Given the description of an element on the screen output the (x, y) to click on. 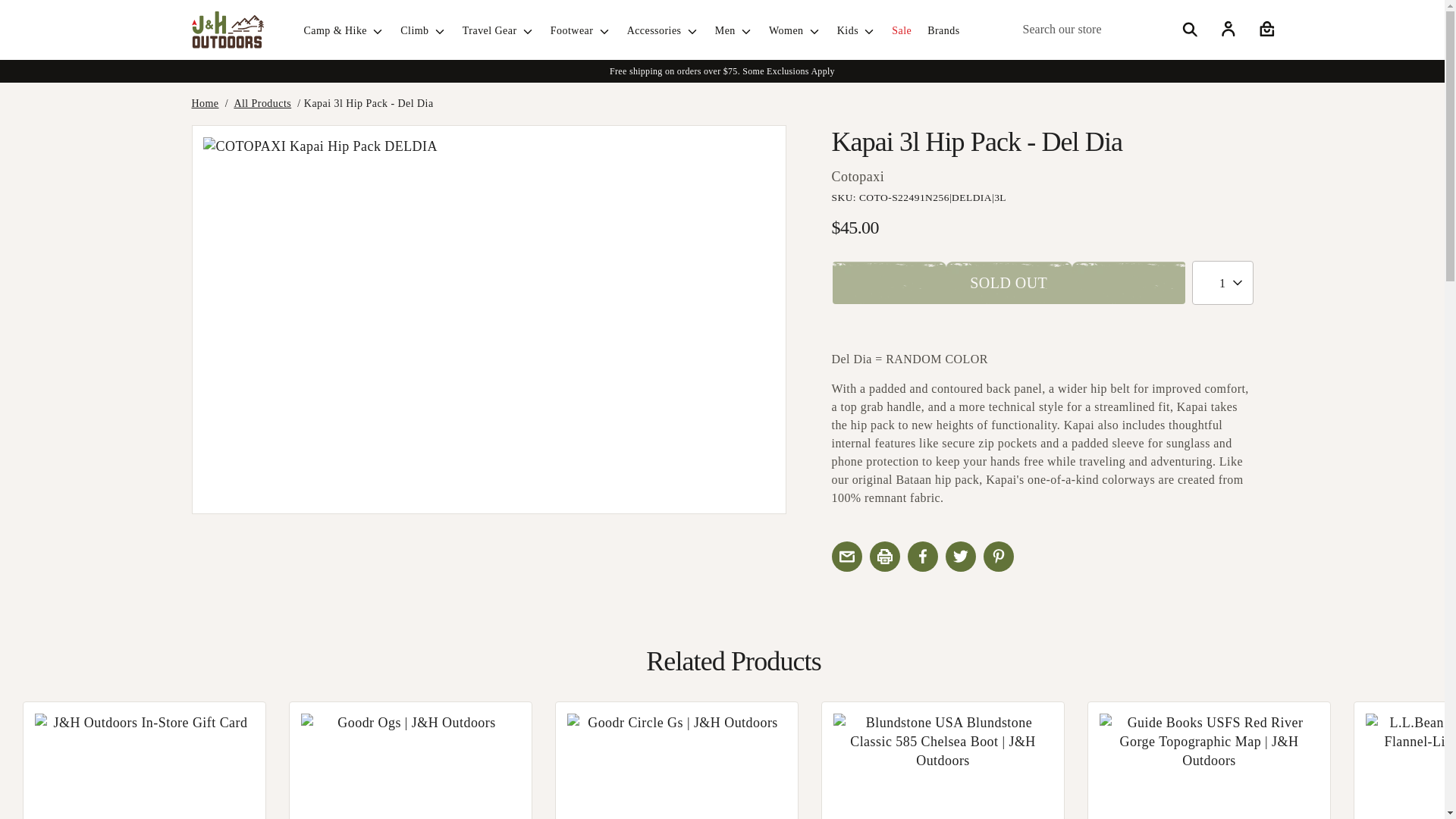
Search Input Field (1108, 29)
All Products (261, 102)
View Blundstone Classic 585 Chelsea Boot (942, 766)
Shopping Cart (1265, 29)
View Ogs (410, 766)
View USFS Red River Gorge Topographic Map (1209, 766)
Home (204, 102)
View Circle Gs (676, 766)
